Given the description of an element on the screen output the (x, y) to click on. 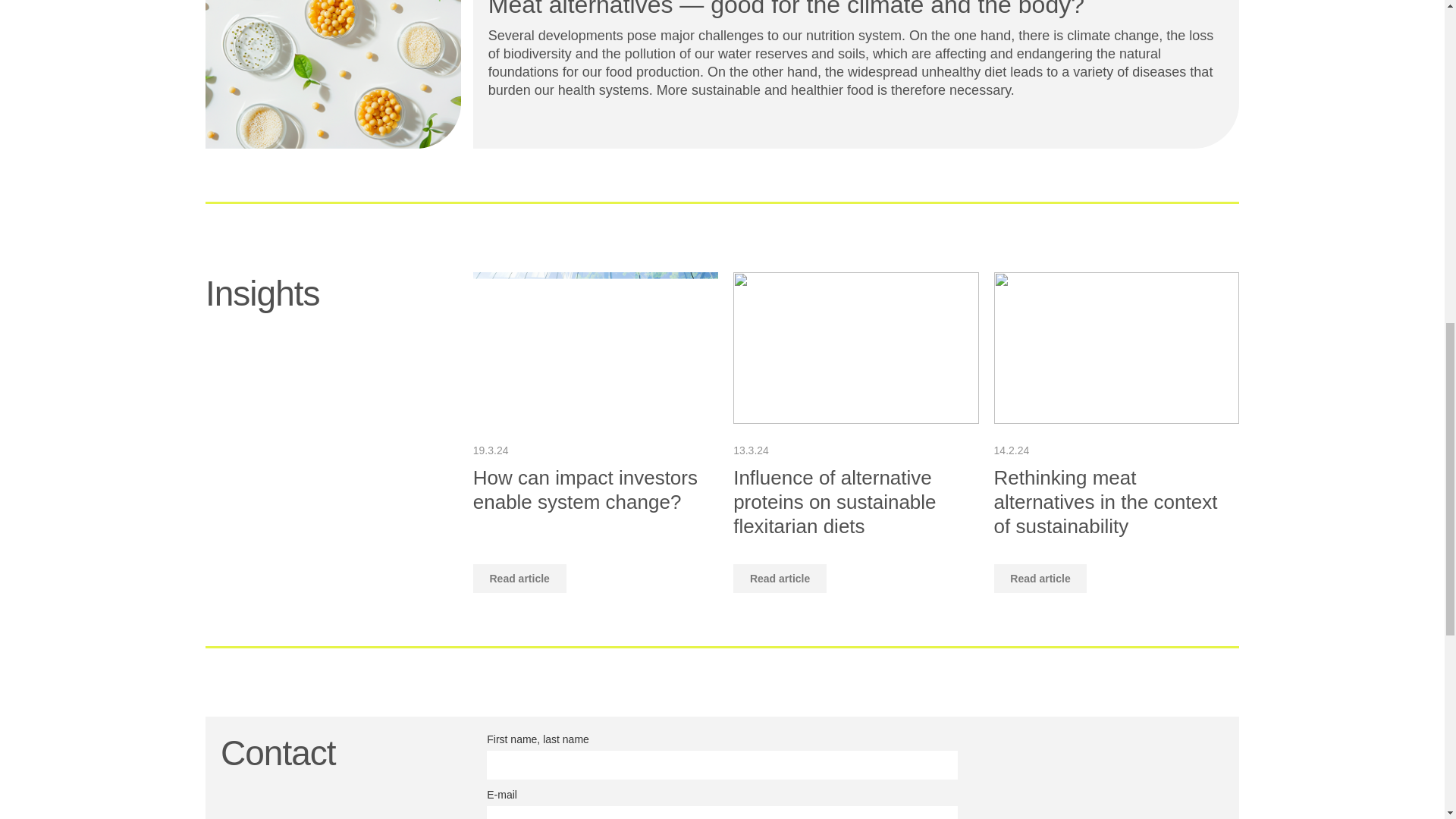
Read article (1040, 578)
Read article (519, 578)
Read article (780, 578)
